Given the description of an element on the screen output the (x, y) to click on. 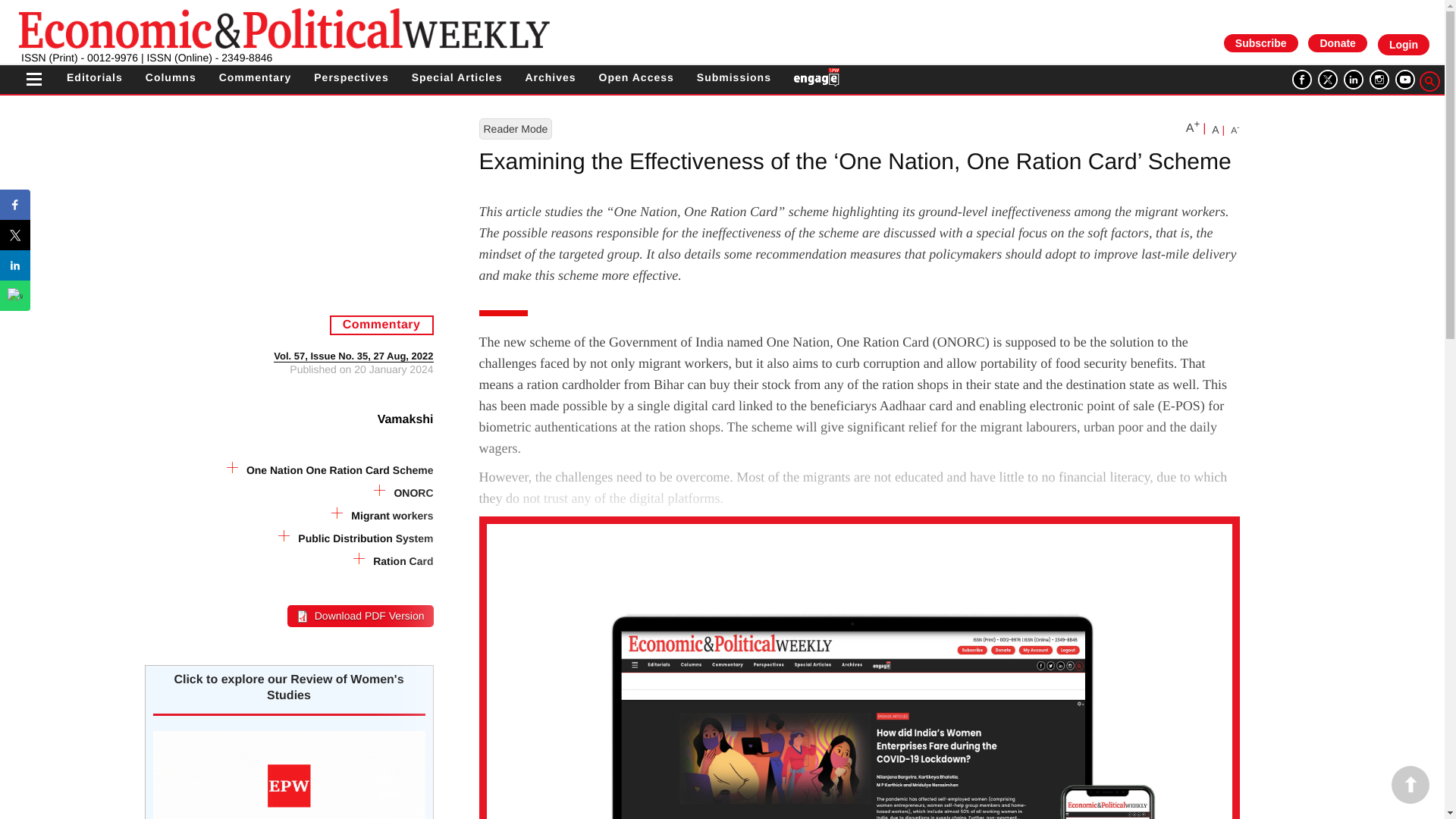
Commentary (255, 77)
subscribe (1260, 42)
Columns (170, 77)
Archives (549, 77)
Open Access (636, 77)
Login (1403, 44)
Home (284, 27)
Columns (170, 77)
Perspectives (351, 77)
Donate (1337, 42)
Commentary (255, 77)
Subscribe (1261, 43)
Special Articles (457, 77)
Special Articles (457, 77)
Editorials (94, 77)
